Given the description of an element on the screen output the (x, y) to click on. 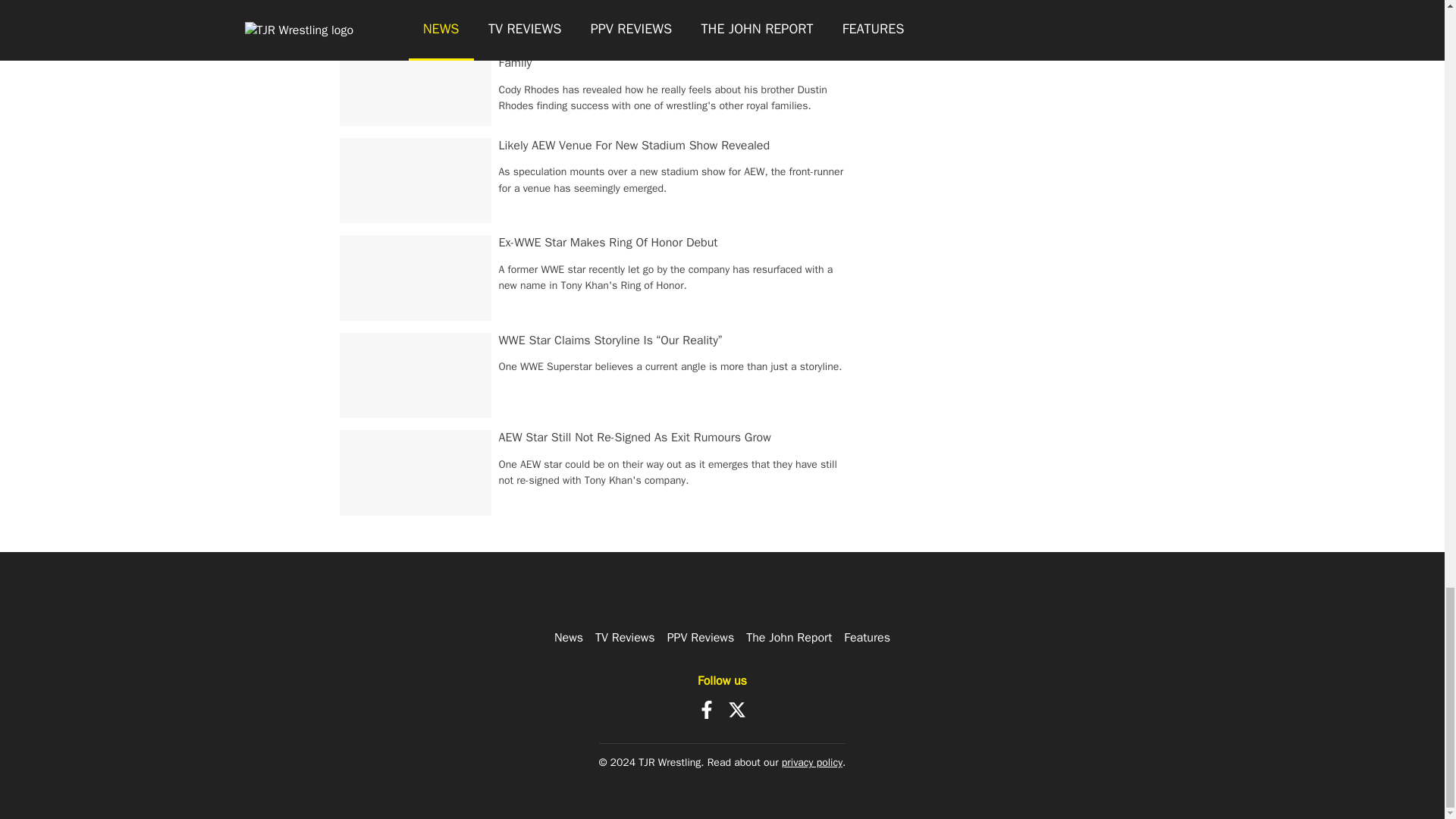
X (736, 710)
Likely AEW Venue For New Stadium Show Revealed (634, 145)
Facebook (706, 710)
Ex-WWE Star Makes Ring Of Honor Debut (608, 242)
AEW Star Still Not Re-Signed As Exit Rumours Grow (635, 437)
